Given the description of an element on the screen output the (x, y) to click on. 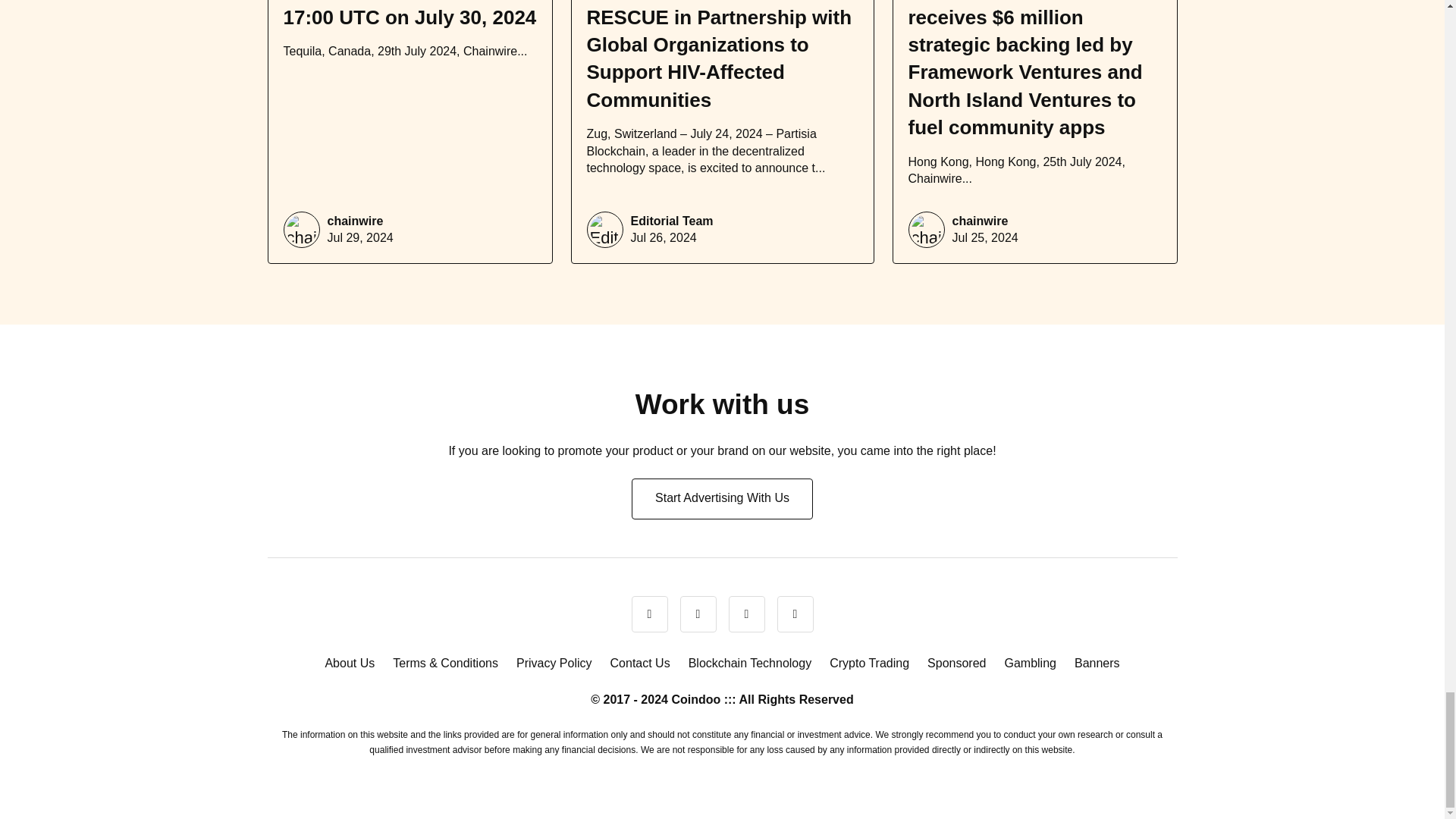
chainwire (355, 221)
Editorial Team (671, 221)
